Given the description of an element on the screen output the (x, y) to click on. 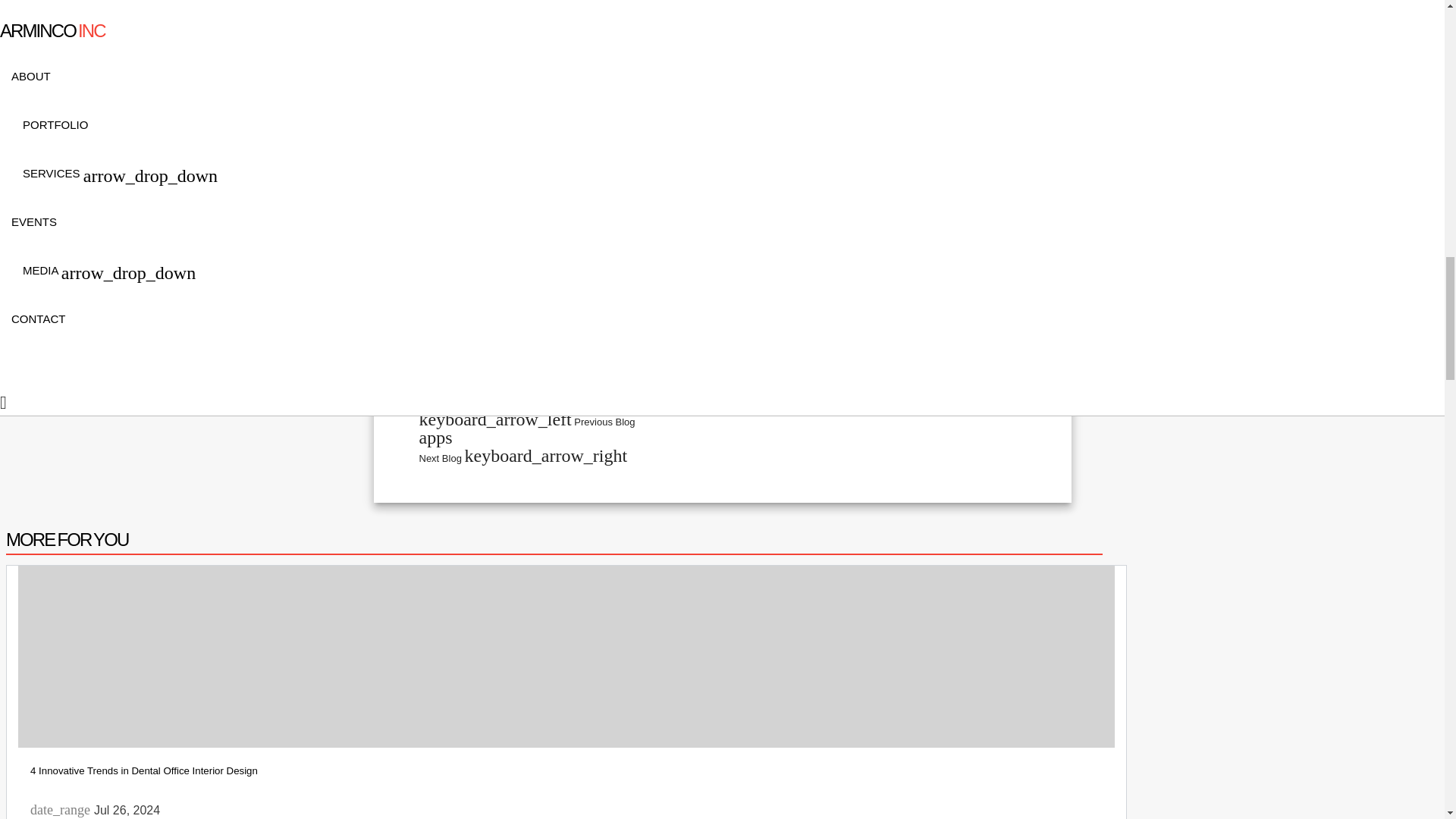
apps (722, 440)
team of professionals (940, 349)
